Given the description of an element on the screen output the (x, y) to click on. 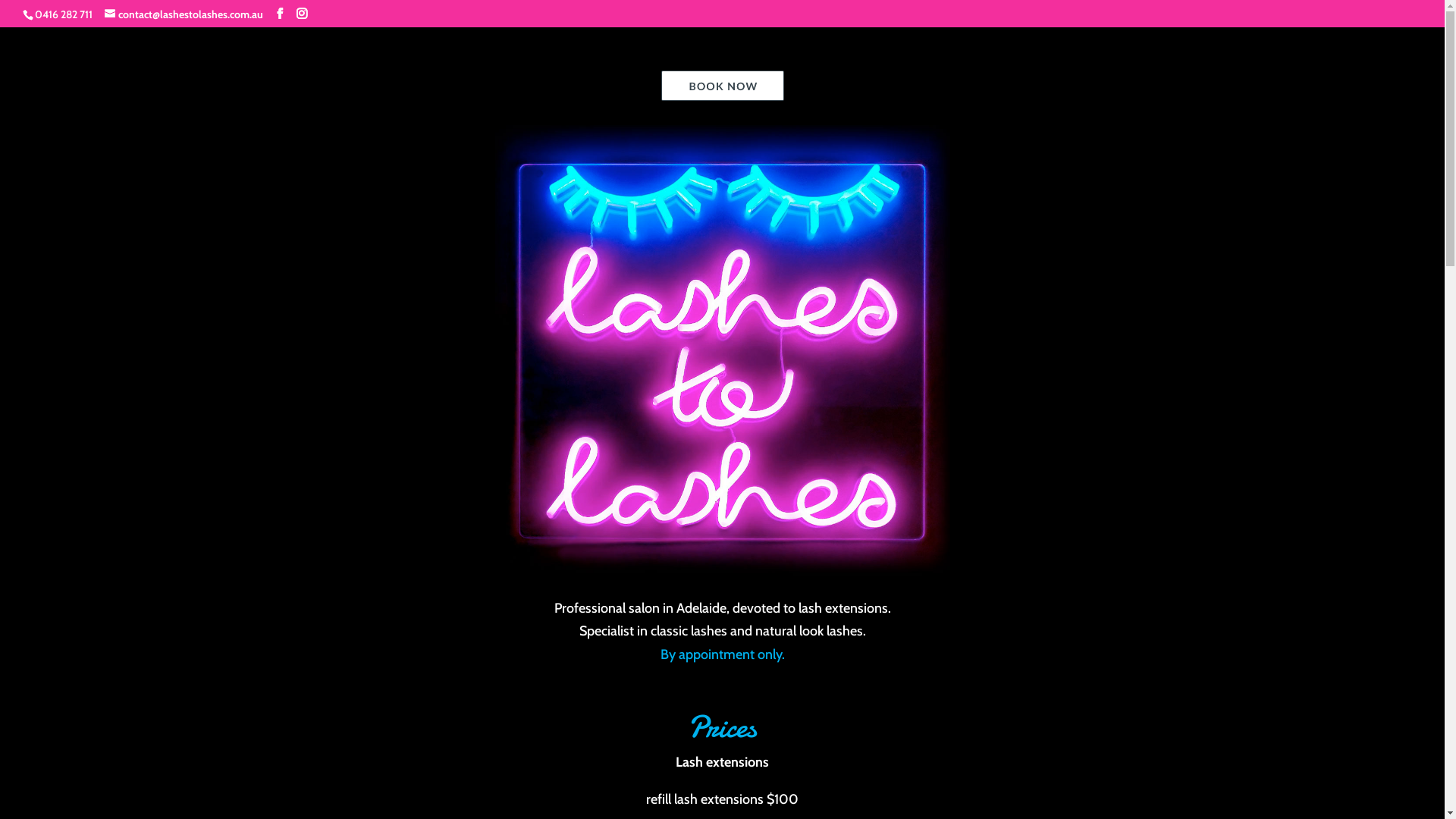
contact@lashestolashes.com.au Element type: text (183, 14)
By appointment only. Element type: text (721, 654)
lashes-logo2 Element type: hover (721, 352)
